Given the description of an element on the screen output the (x, y) to click on. 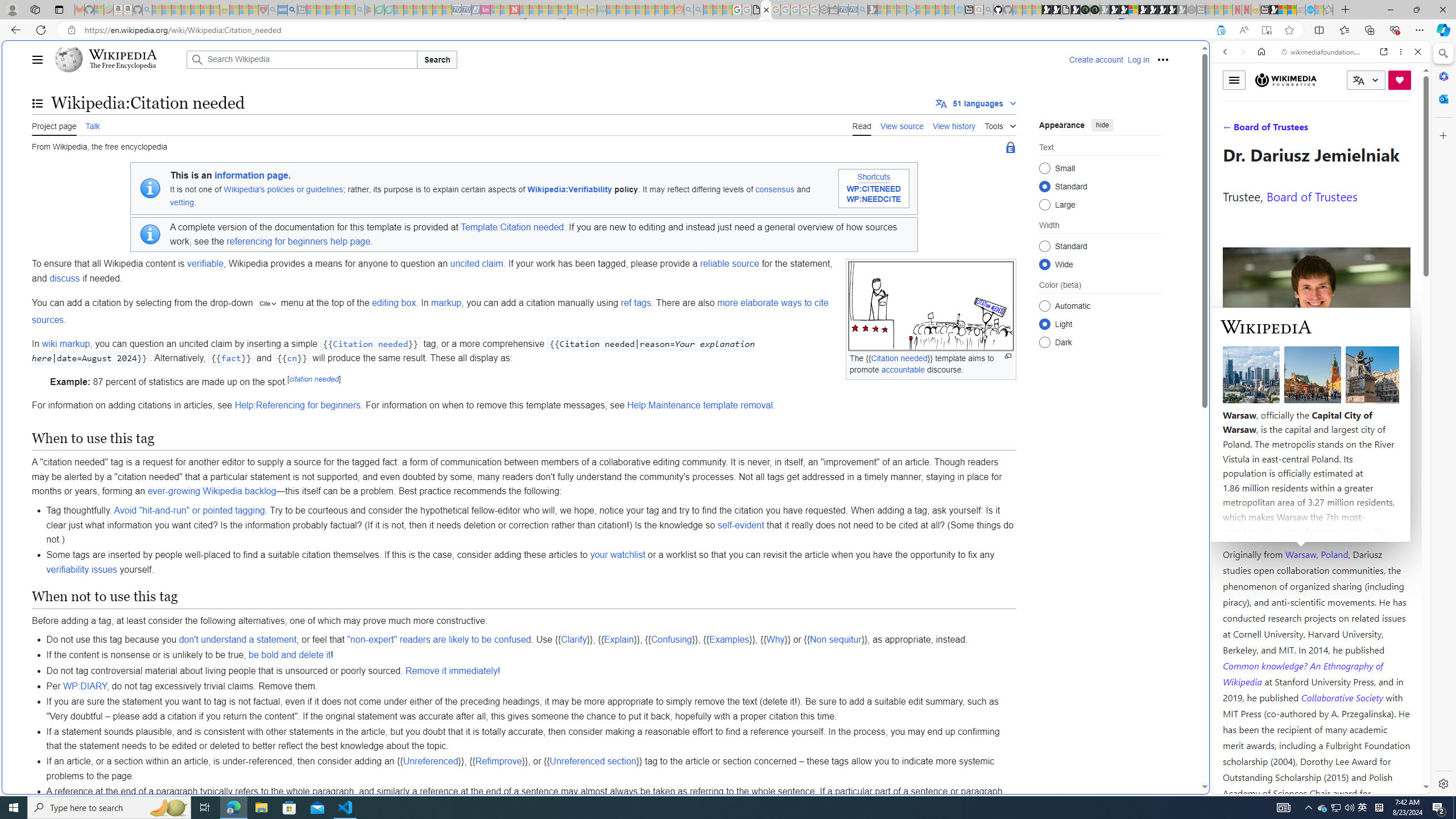
View source (902, 124)
View source (902, 124)
editing box (393, 302)
Unreferenced section (592, 761)
wiki markup (66, 343)
Help:Maintenance template removal (699, 405)
